Given the description of an element on the screen output the (x, y) to click on. 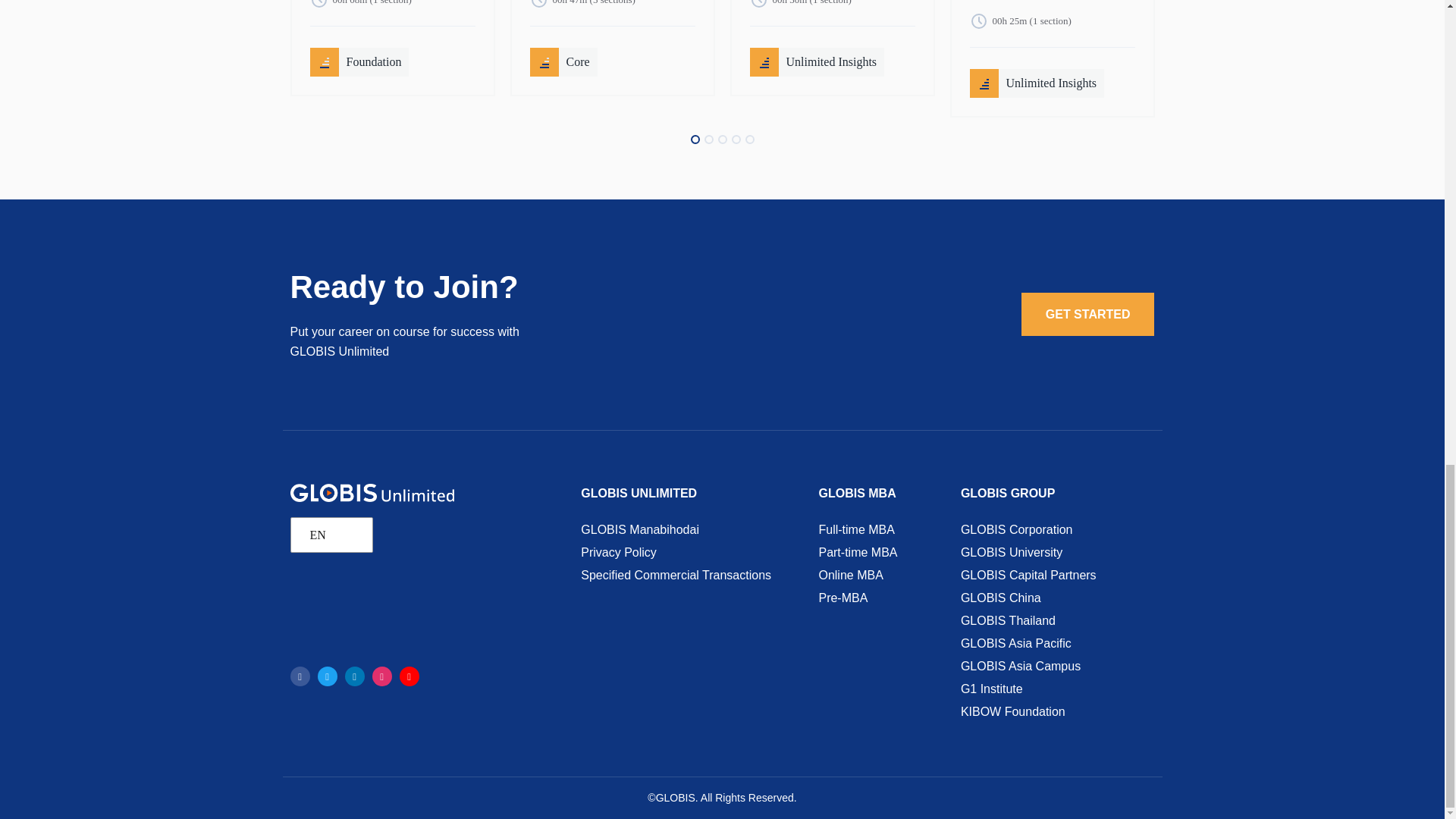
English (327, 534)
